Given the description of an element on the screen output the (x, y) to click on. 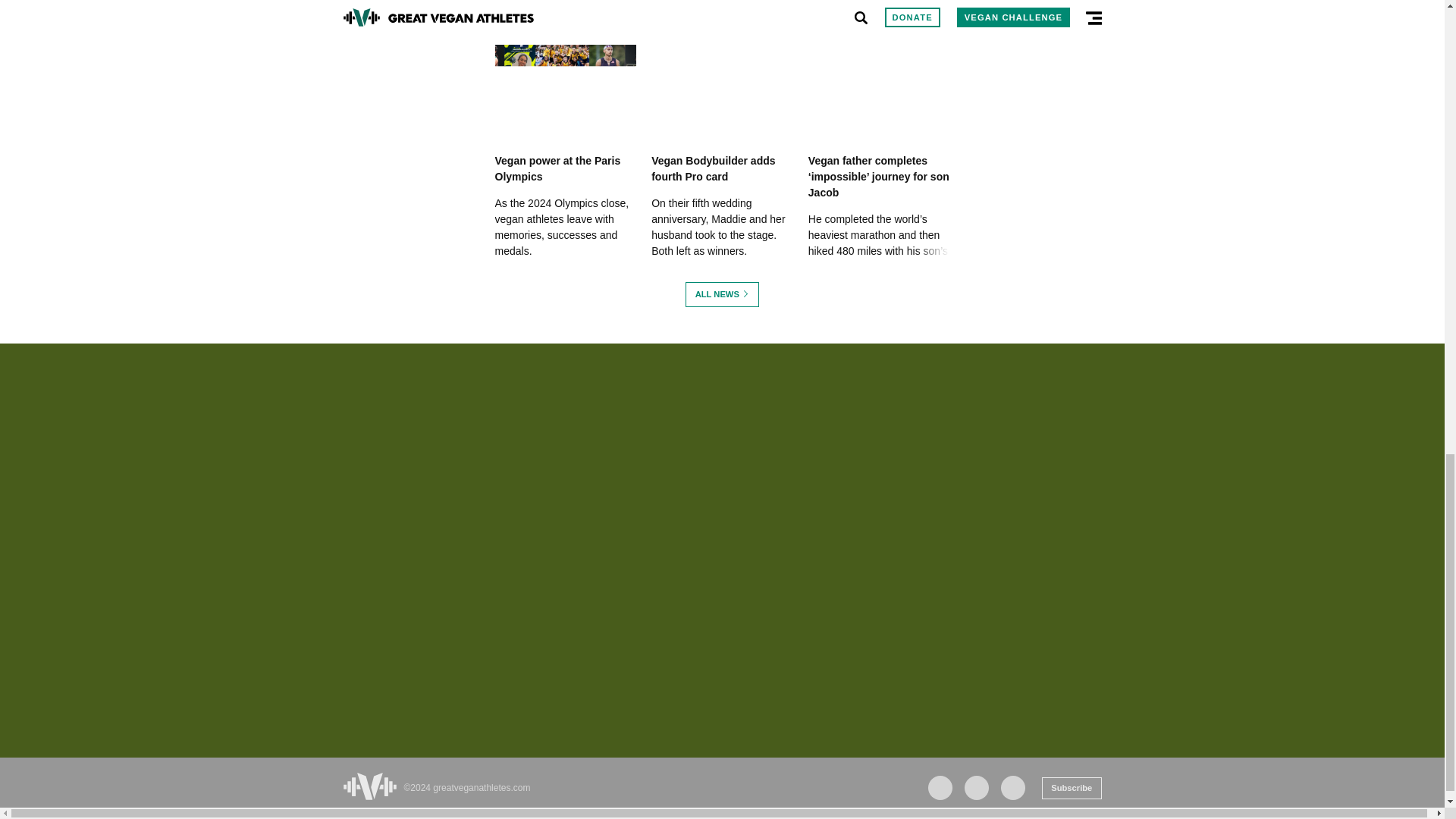
ALV facebook (940, 787)
liberation instagram (975, 787)
Subscribe (1071, 788)
ALL NEWS (721, 294)
liberation instagram (1013, 787)
